Given the description of an element on the screen output the (x, y) to click on. 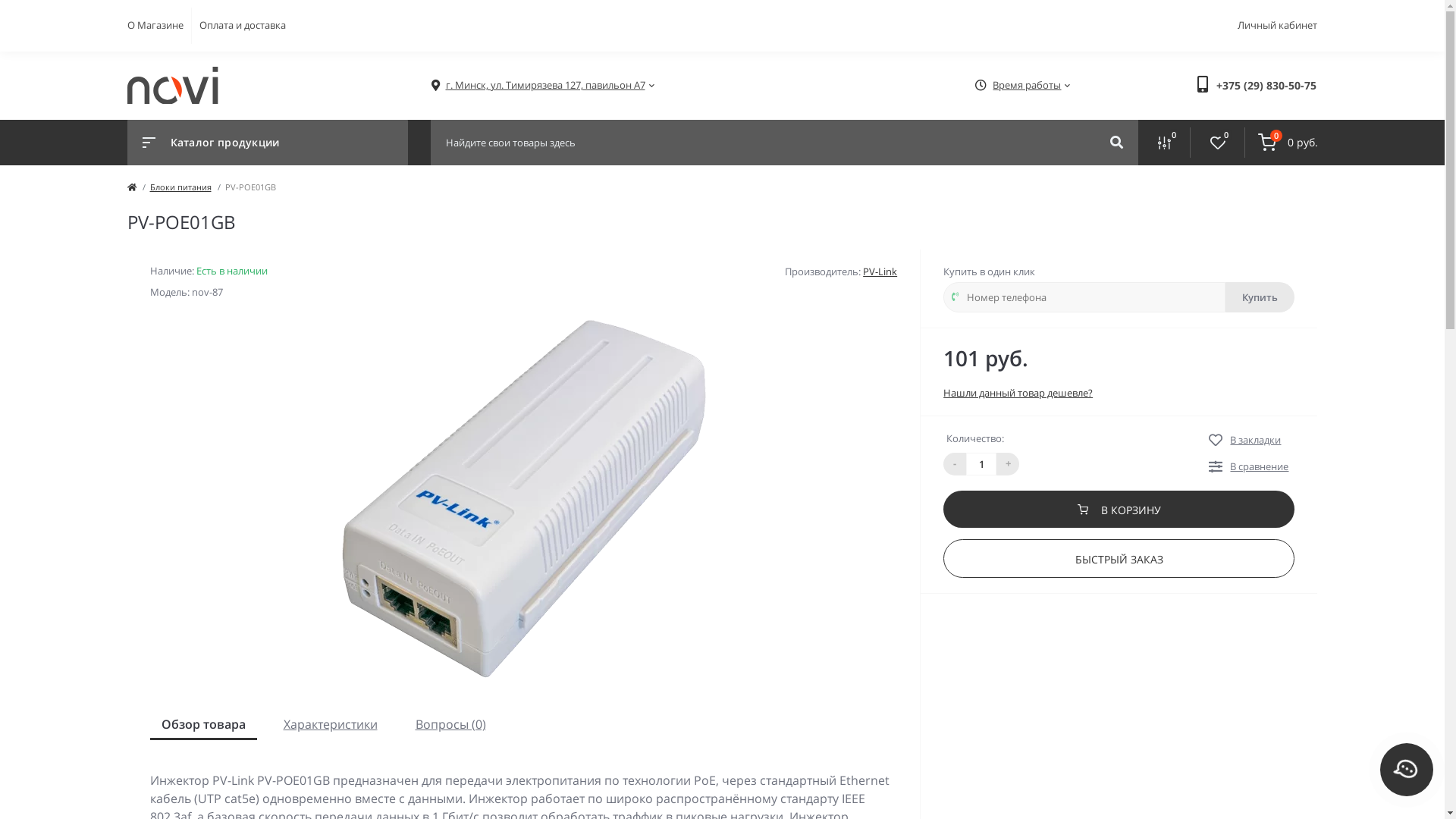
+ Element type: text (1007, 462)
- Element type: text (954, 462)
+375 (29) 830-50-75 Element type: text (1266, 85)
0 Element type: text (1217, 142)
PV-Link Element type: text (879, 270)
0 Element type: text (1163, 142)
PV-POE01GB Element type: hover (522, 501)
